Given the description of an element on the screen output the (x, y) to click on. 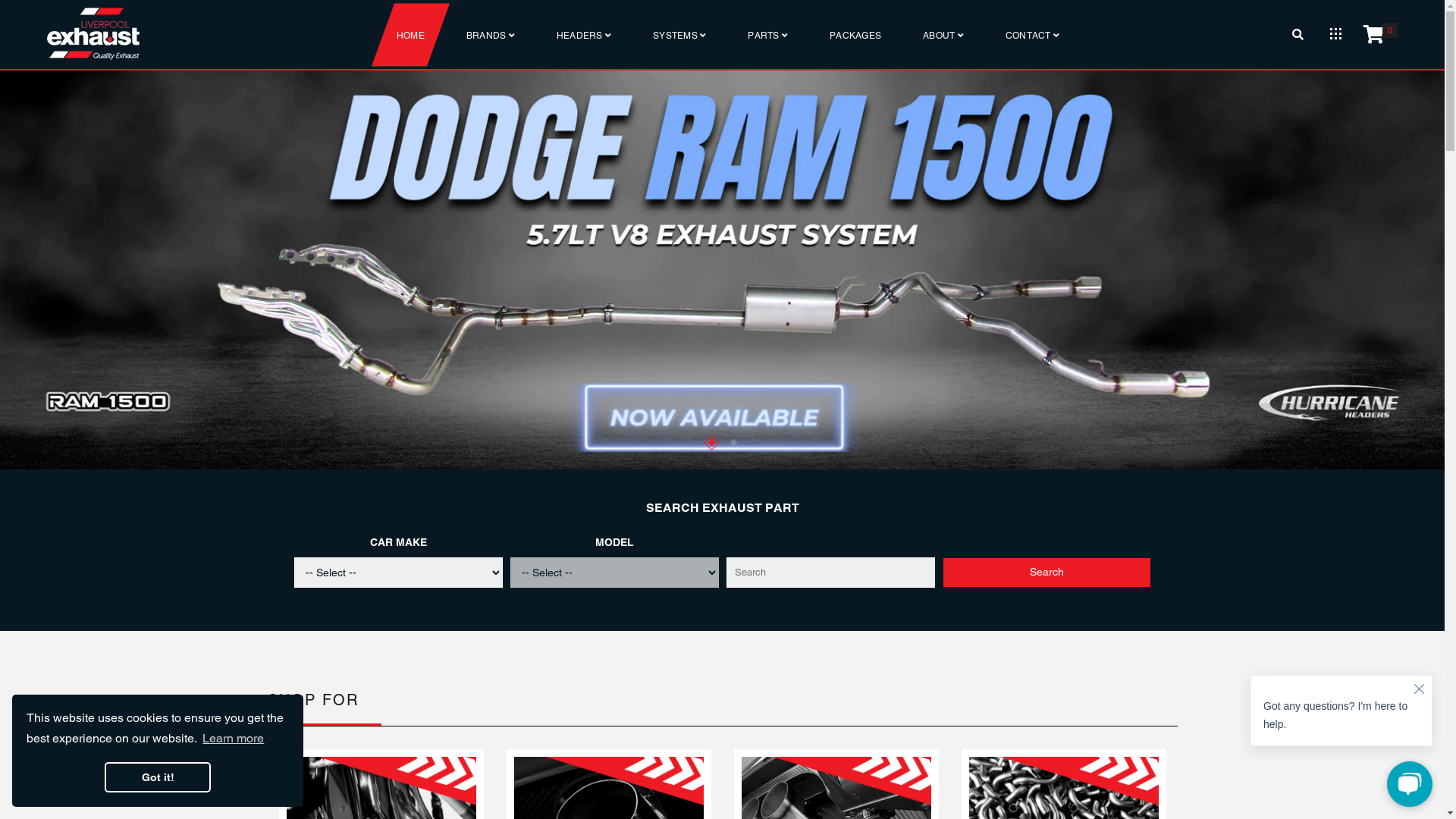
1 Element type: text (708, 439)
2 Element type: text (730, 439)
PARTS Element type: text (767, 34)
Search Element type: text (1045, 572)
BRANDS Element type: text (490, 34)
ABOUT Element type: text (943, 34)
SYSTEMS Element type: text (679, 34)
PACKAGES Element type: text (854, 34)
0 Element type: text (1373, 34)
HEADERS Element type: text (583, 34)
Learn more Element type: text (233, 738)
Got it! Element type: text (157, 777)
HOME Element type: text (410, 34)
CONTACT Element type: text (1032, 34)
